Given the description of an element on the screen output the (x, y) to click on. 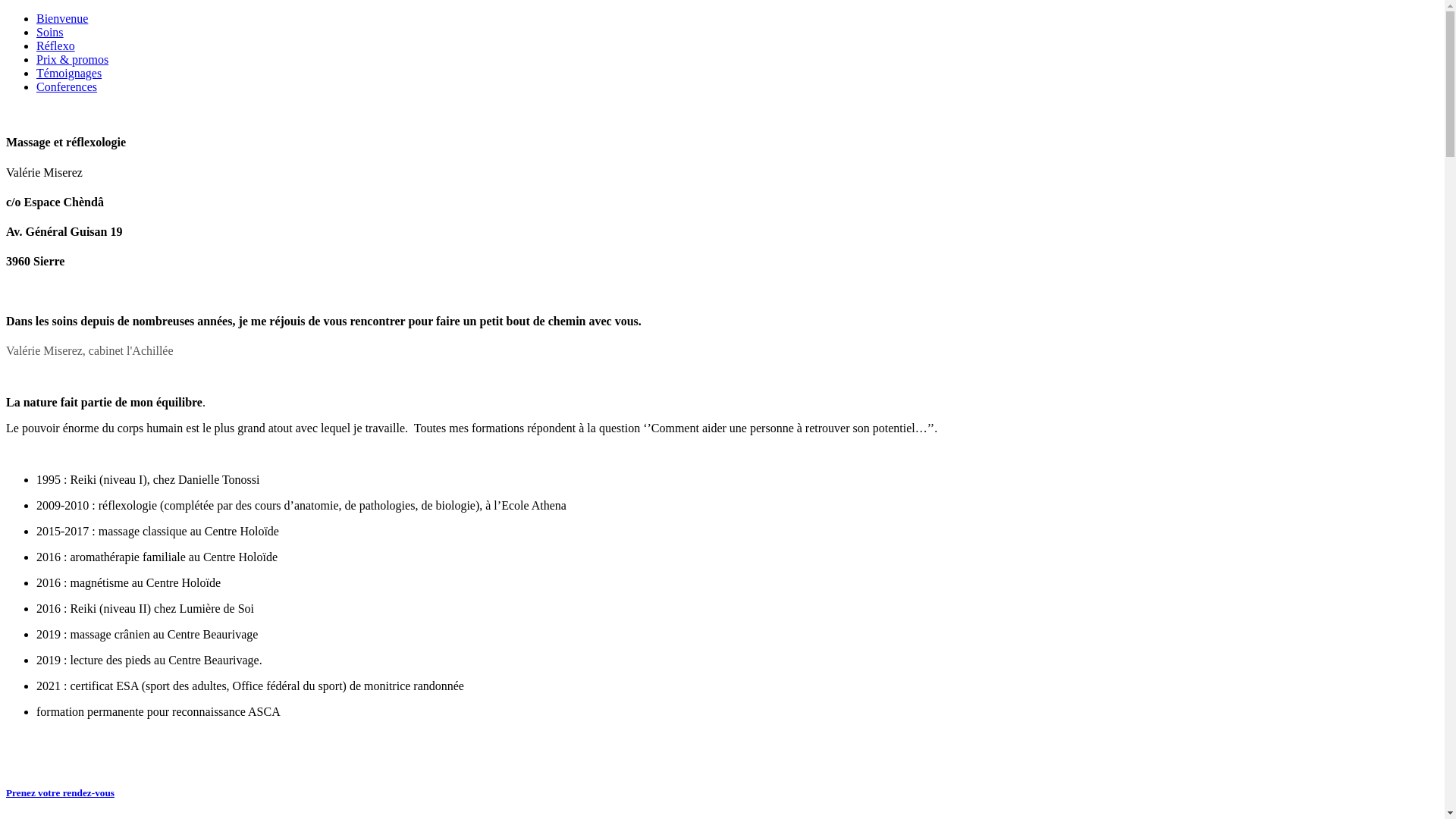
Prix & promos Element type: text (72, 59)
Soins Element type: text (49, 31)
Prenez votre rendez-vous Element type: text (60, 792)
Bienvenue Element type: text (61, 18)
Conferences Element type: text (66, 86)
